Given the description of an element on the screen output the (x, y) to click on. 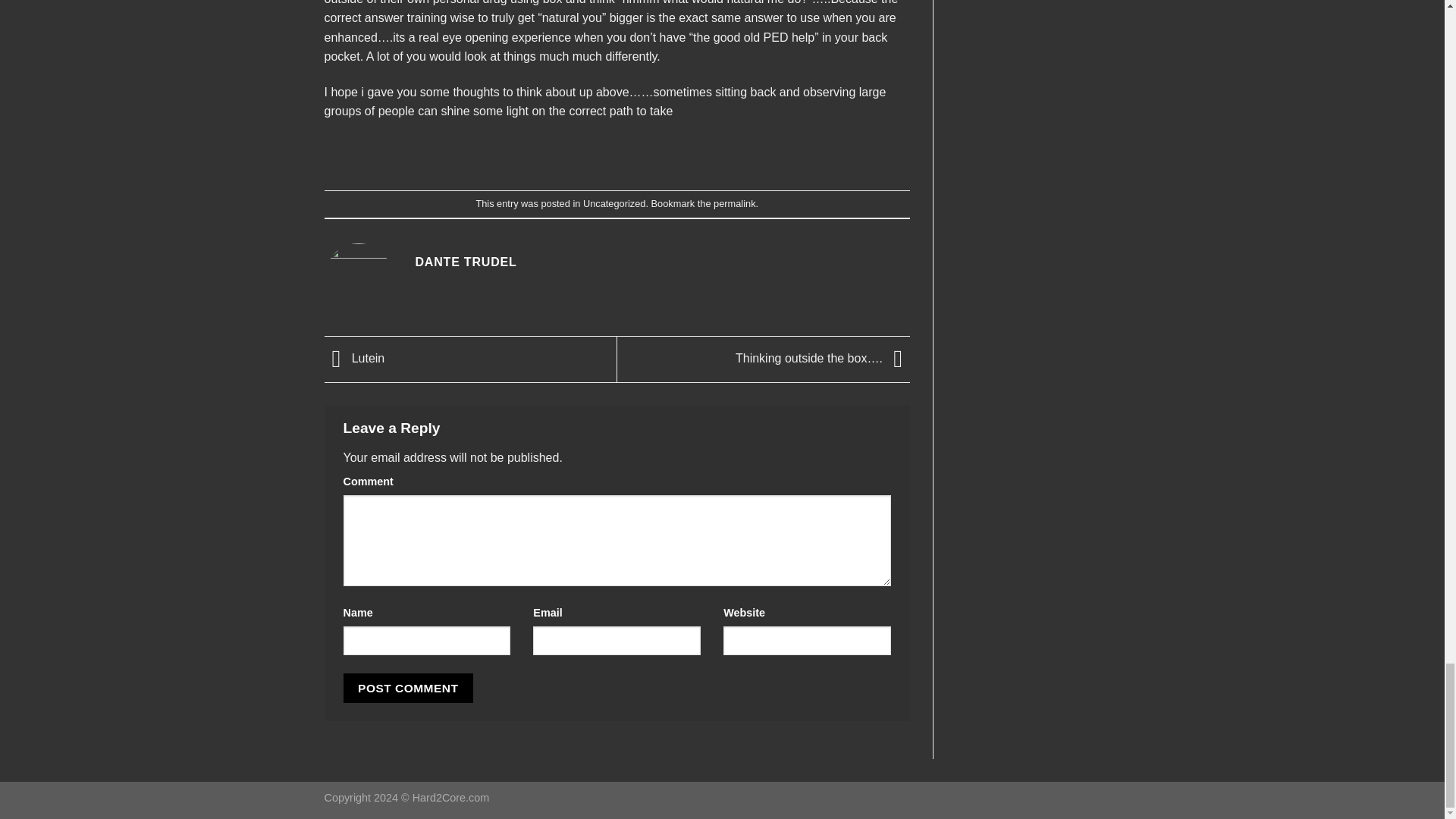
permalink (734, 203)
Permalink to Power in numbers and Observation: (734, 203)
Uncategorized (614, 203)
Post Comment (407, 687)
Post Comment (407, 687)
Lutein (354, 358)
